Given the description of an element on the screen output the (x, y) to click on. 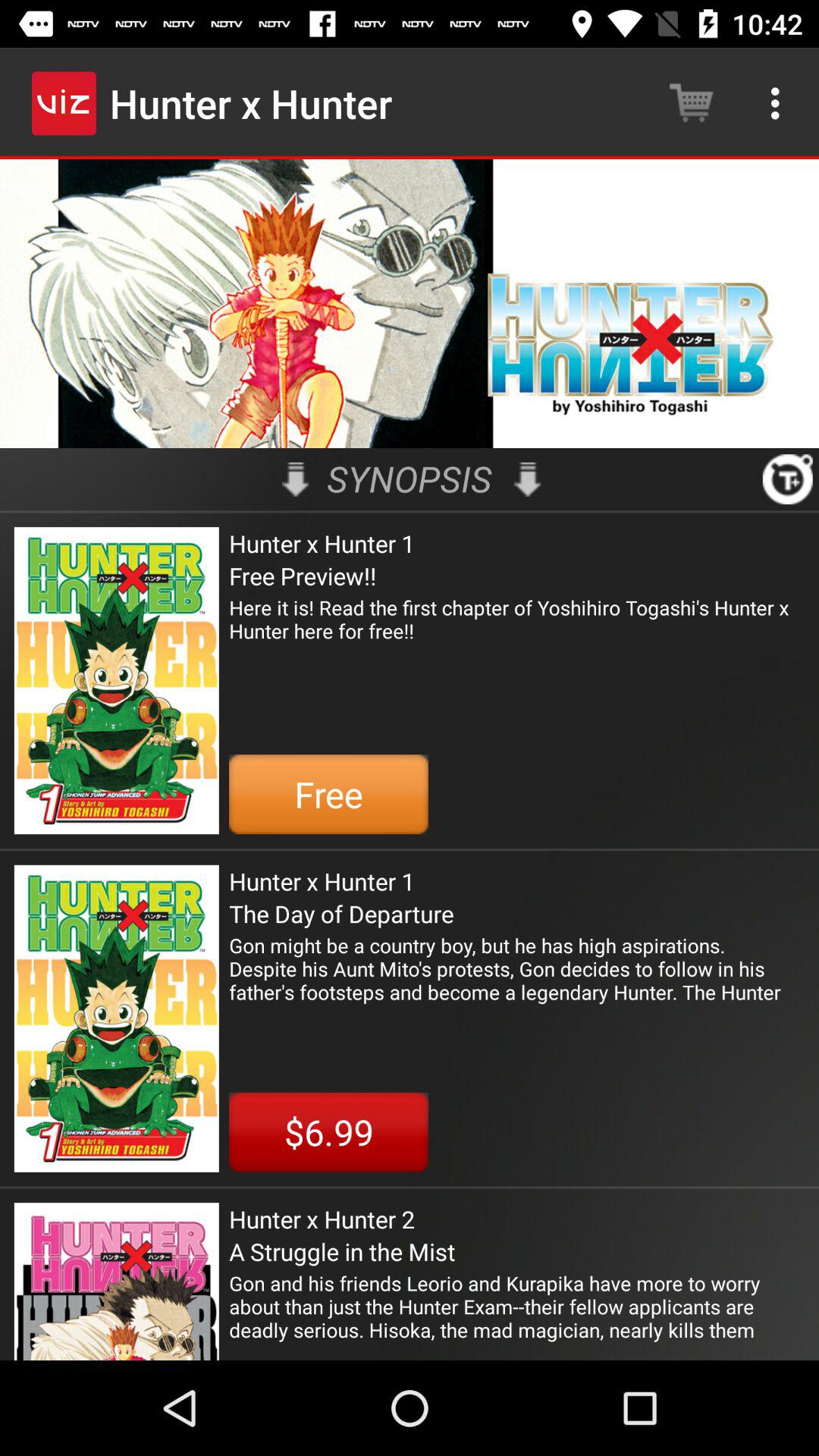
choose icon above hunter x hunter icon (409, 478)
